Given the description of an element on the screen output the (x, y) to click on. 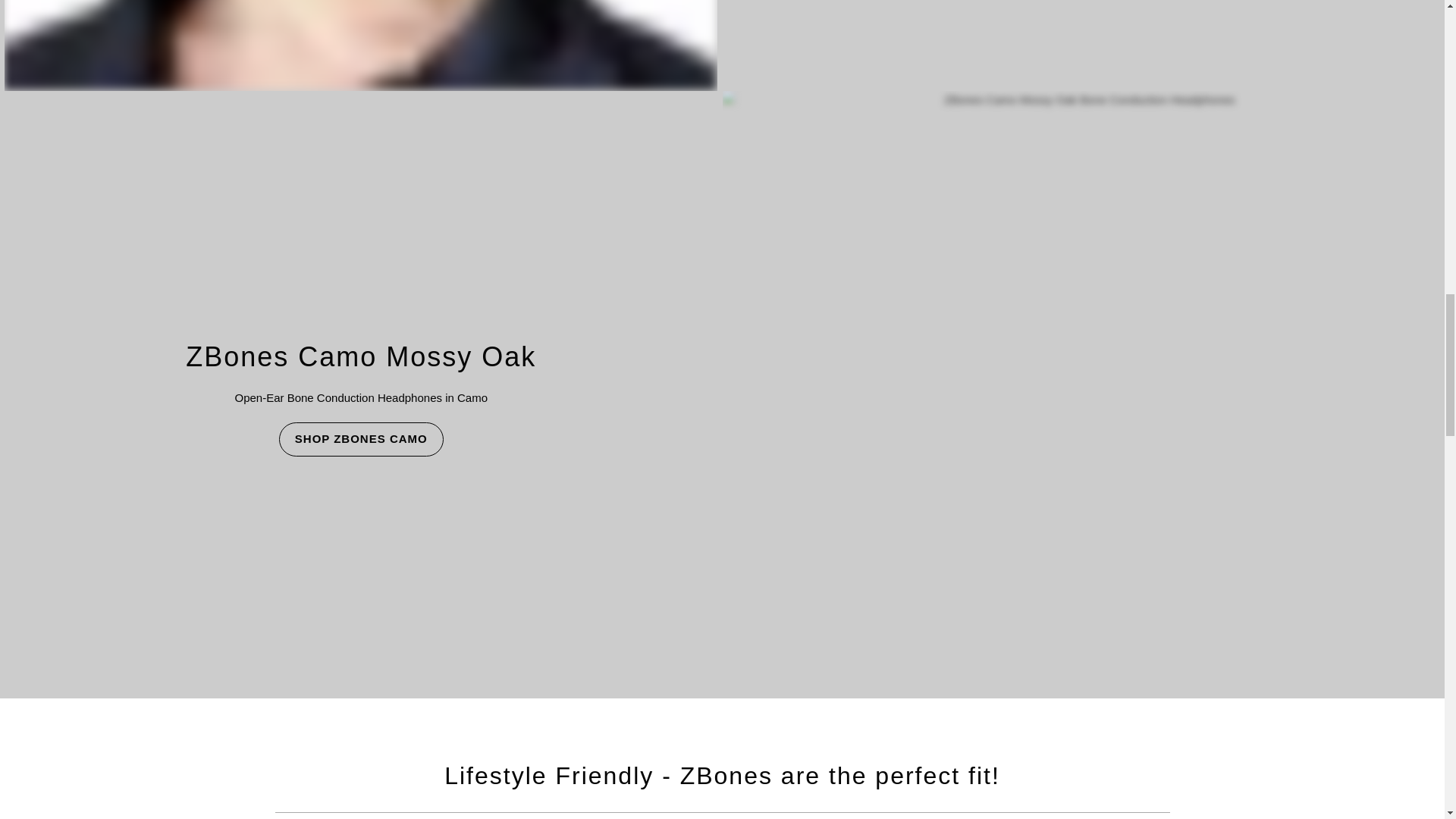
SHOP ZBONES CAMO (361, 439)
ZBones Camo Mossy Oak (360, 355)
ZBones Stealth (361, 45)
